Given the description of an element on the screen output the (x, y) to click on. 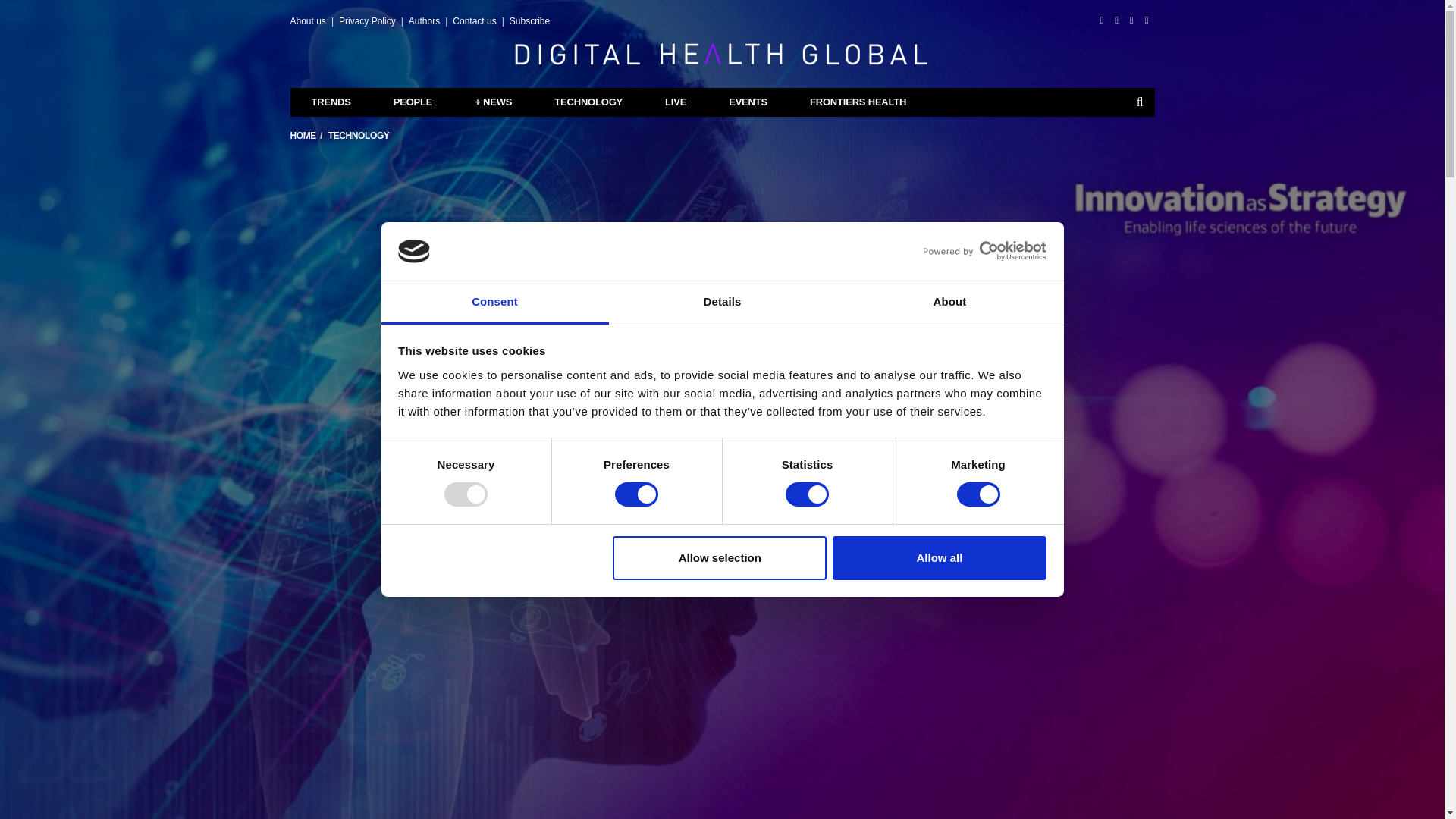
Consent (494, 302)
About (948, 302)
Details (721, 302)
